Given the description of an element on the screen output the (x, y) to click on. 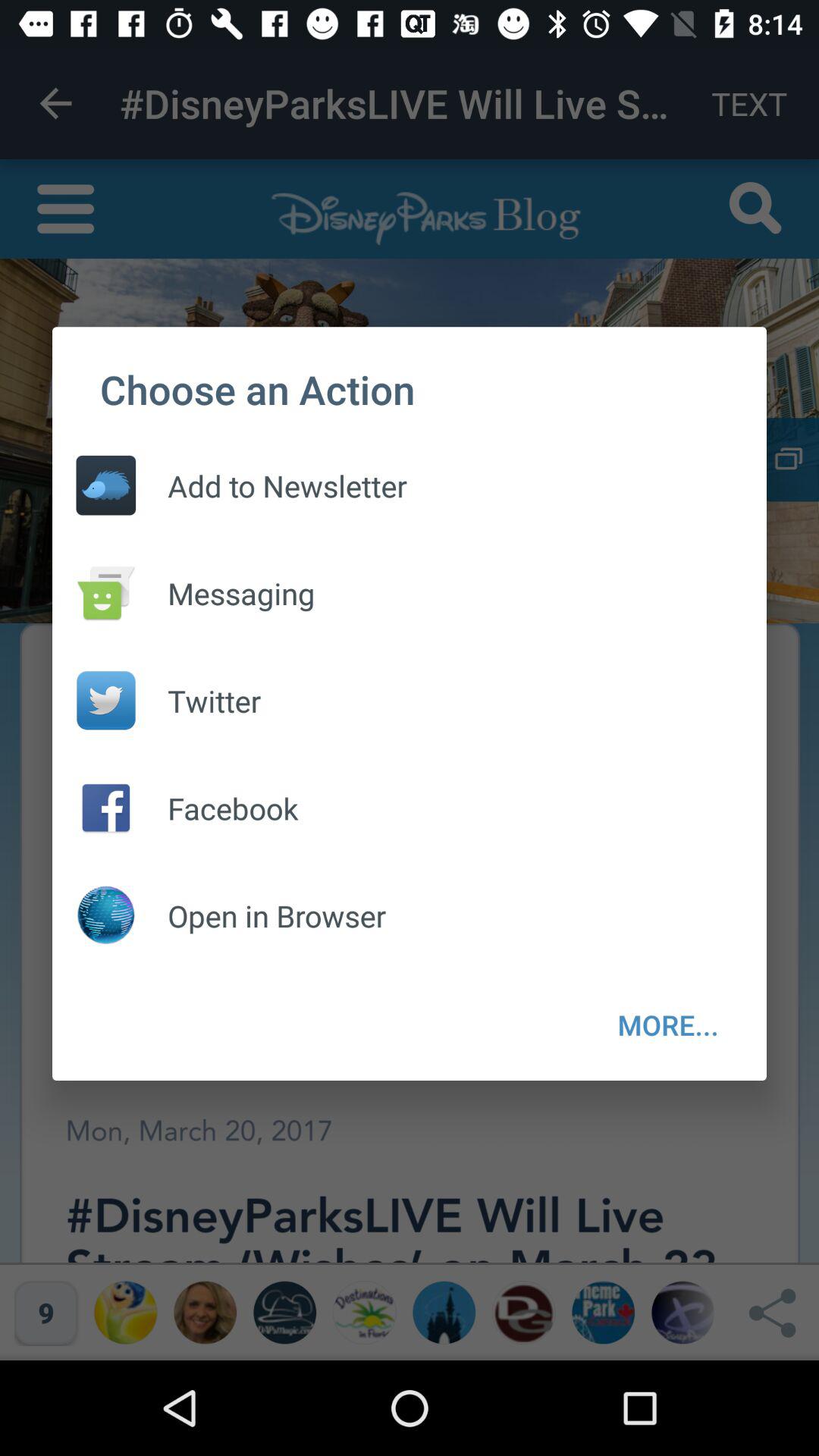
tap the icon at the bottom right corner (667, 1024)
